Given the description of an element on the screen output the (x, y) to click on. 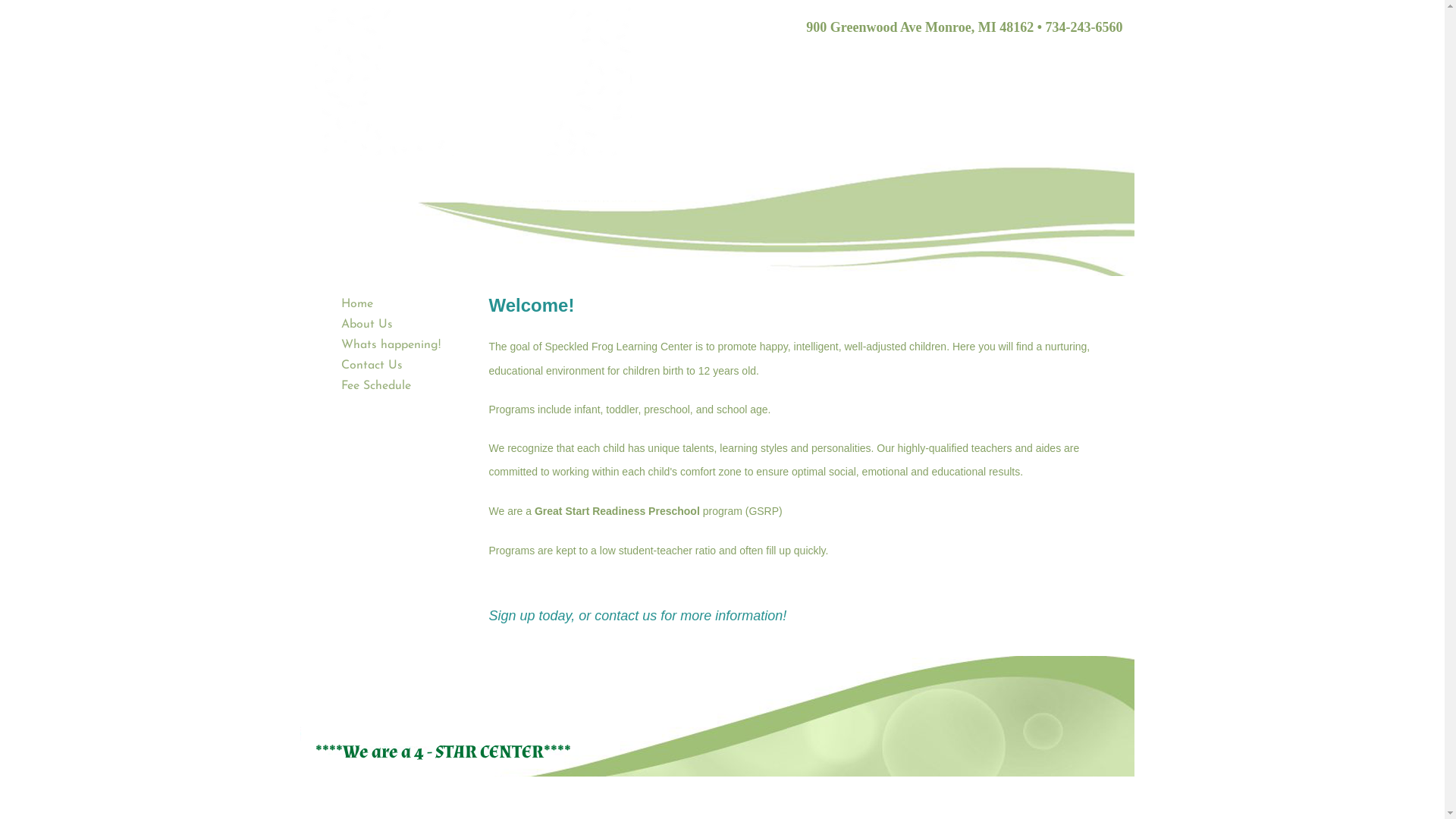
Contact Us Element type: text (371, 365)
Fee Schedule Element type: text (375, 385)
About Us Element type: text (366, 324)
Home Element type: text (356, 303)
Whats happening! Element type: text (390, 344)
